Given the description of an element on the screen output the (x, y) to click on. 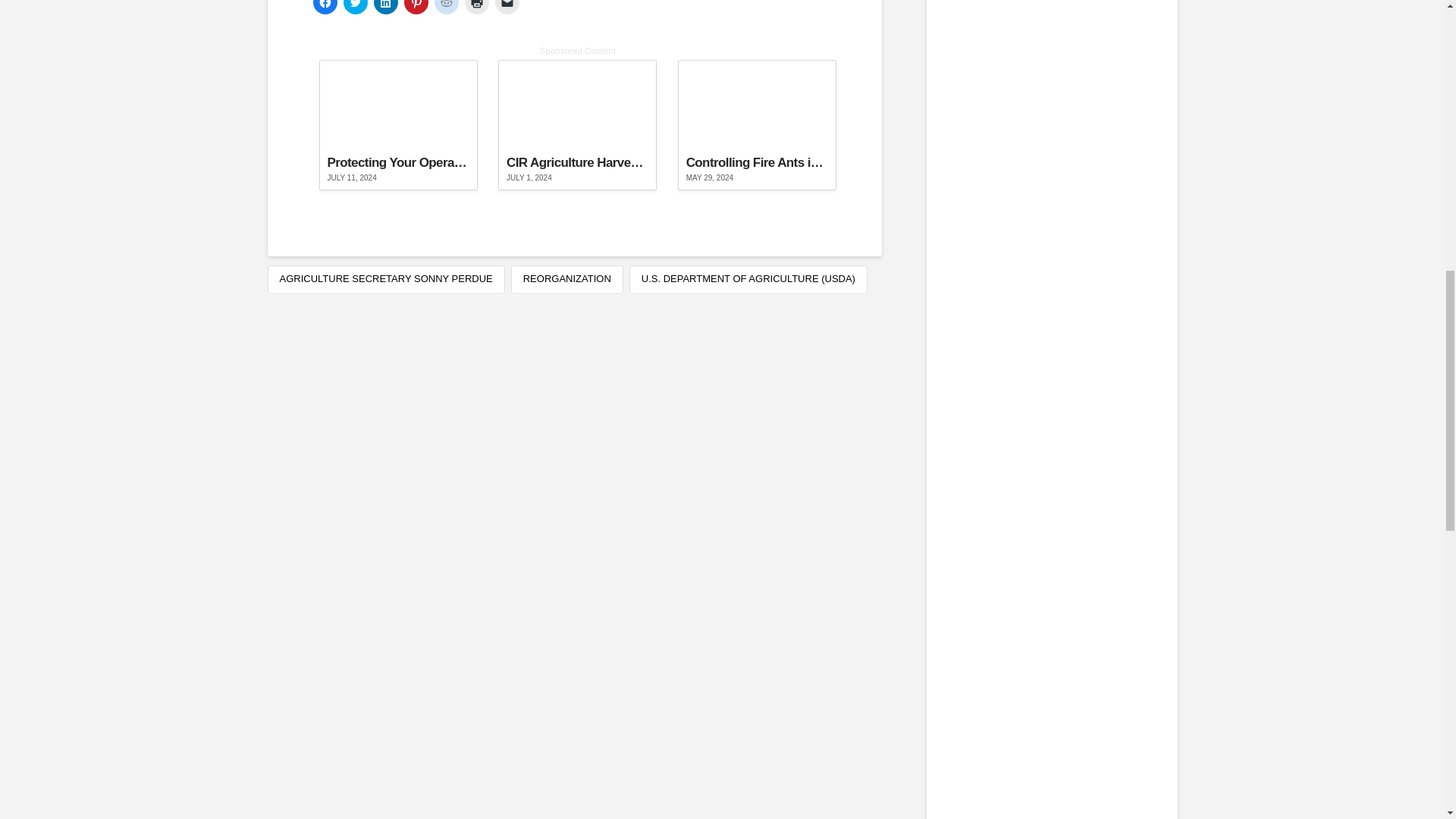
Permalink to: "CIR Agriculture Harvester Products" (576, 124)
Click to share on Facebook (324, 7)
Click to print (475, 7)
Click to share on Twitter (354, 7)
Click to share on Pinterest (415, 7)
Click to share on Reddit (445, 7)
Permalink to: "Controlling Fire Ants in Almond Orchards" (756, 124)
Click to share on LinkedIn (384, 7)
Click to email a link to a friend (506, 7)
